Given the description of an element on the screen output the (x, y) to click on. 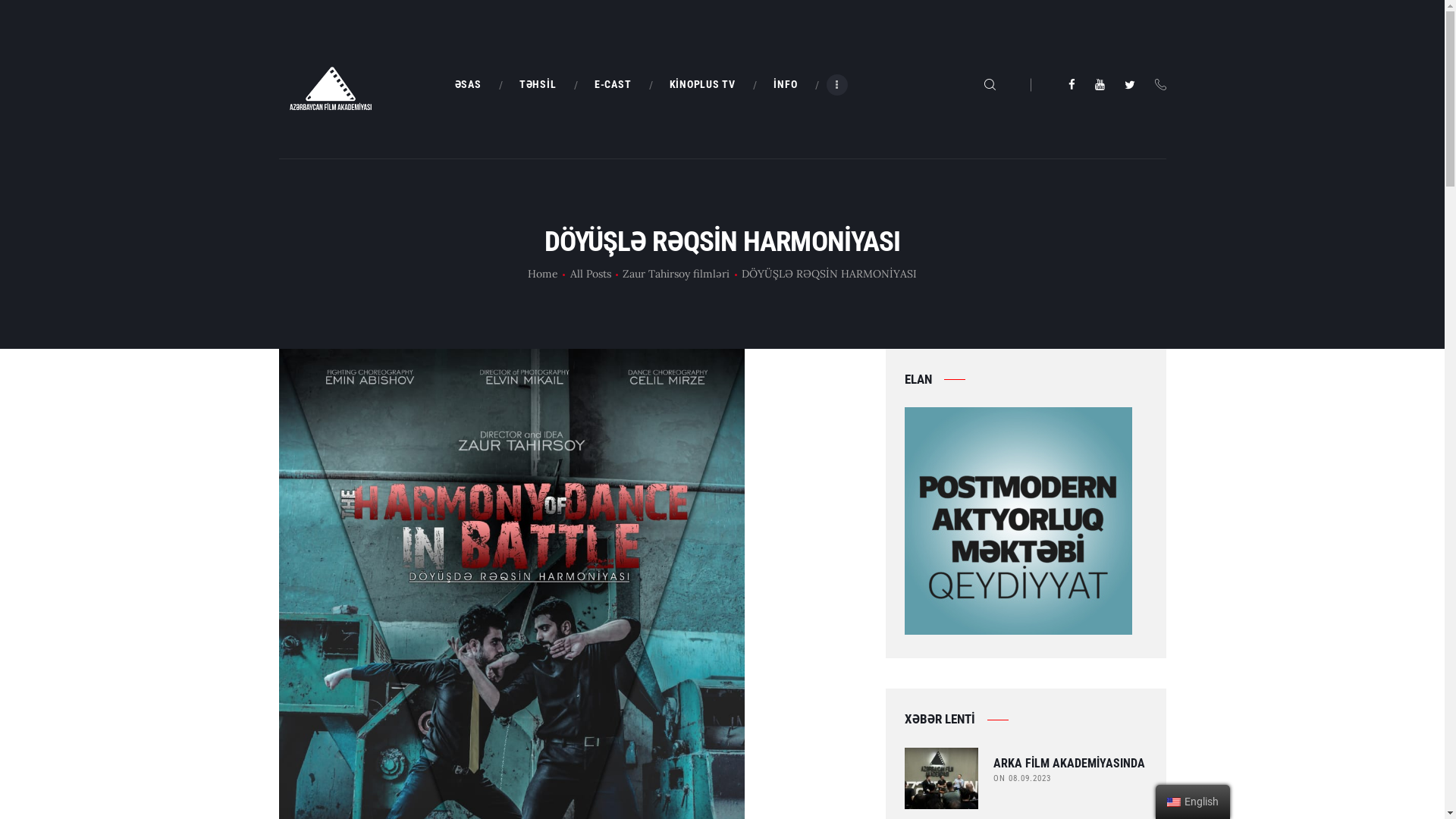
ON 08.09.2023 Element type: text (1022, 778)
ELAN Element type: hover (1018, 520)
English Element type: hover (1173, 801)
E-CAST Element type: text (612, 84)
Home Element type: text (542, 273)
All Posts Element type: text (590, 273)
